Given the description of an element on the screen output the (x, y) to click on. 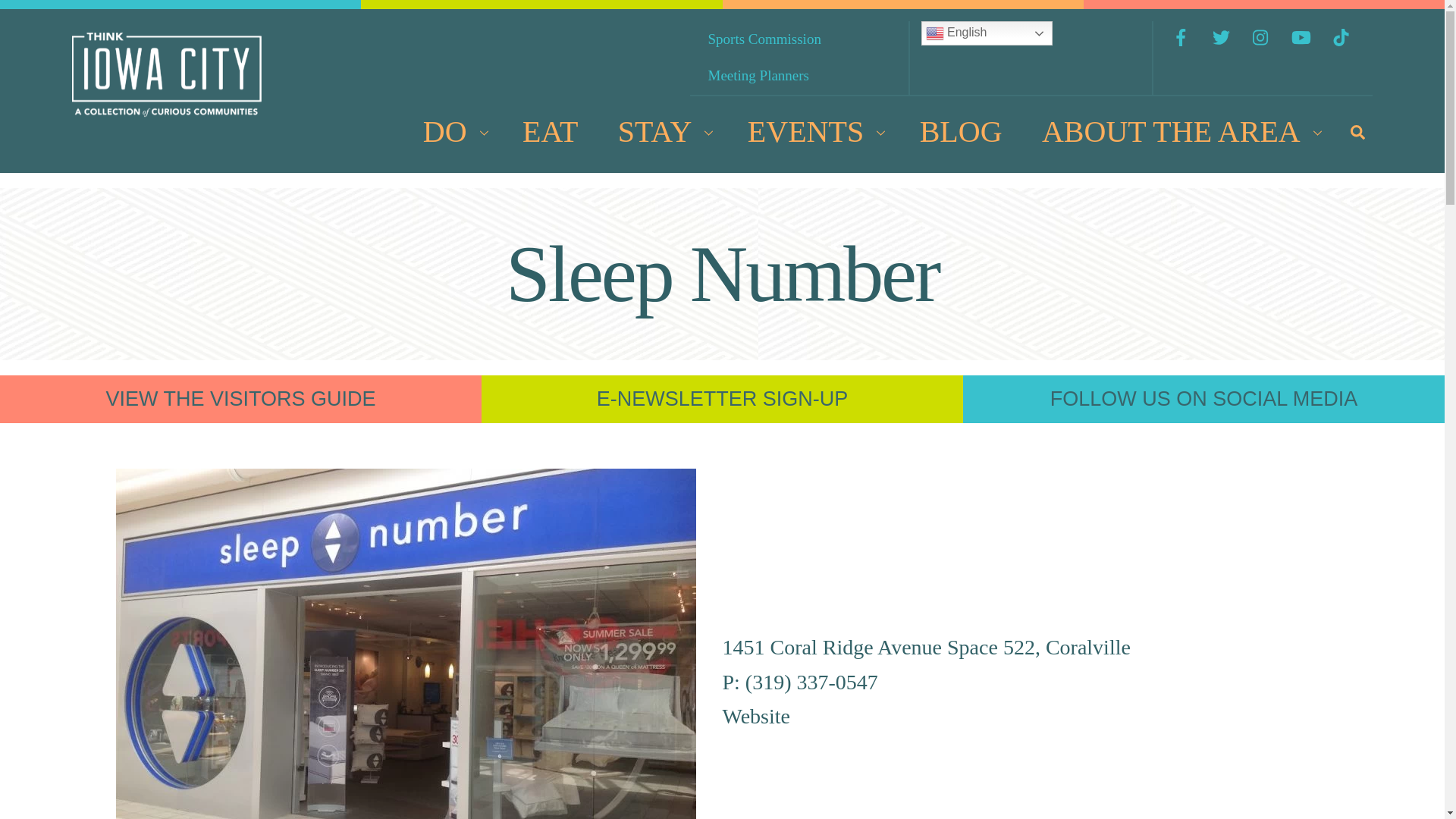
DO (452, 131)
Meeting Planners (758, 75)
Sports Commission Meeting Planners (799, 58)
Search (1357, 132)
English (986, 33)
Sports Commission (166, 109)
